Given the description of an element on the screen output the (x, y) to click on. 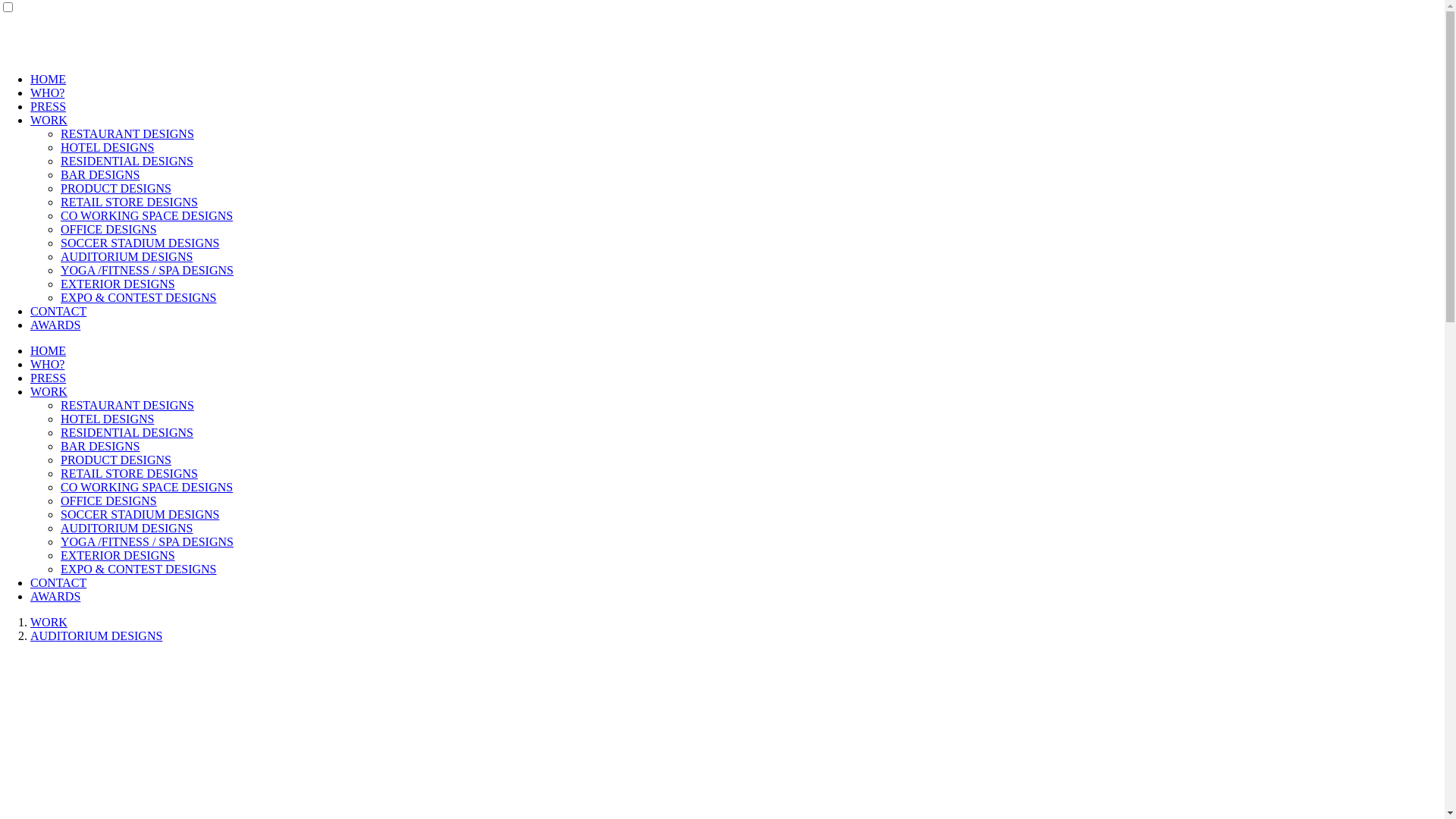
CONTACT Element type: text (58, 310)
YOGA /FITNESS / SPA DESIGNS Element type: text (146, 269)
EXPO & CONTEST DESIGNS Element type: text (138, 297)
BAR DESIGNS Element type: text (99, 445)
WHO? Element type: text (47, 363)
AUDITORIUM DESIGNS Element type: text (126, 256)
PRODUCT DESIGNS Element type: text (115, 188)
WHO? Element type: text (47, 92)
AUDITORIUM DESIGNS Element type: text (126, 527)
CONTACT Element type: text (58, 582)
CO WORKING SPACE DESIGNS Element type: text (146, 215)
HOTEL DESIGNS Element type: text (106, 147)
EXTERIOR DESIGNS Element type: text (117, 555)
AUDITORIUM DESIGNS Element type: text (96, 635)
RESIDENTIAL DESIGNS Element type: text (126, 160)
WORK Element type: text (48, 621)
BAR DESIGNS Element type: text (99, 174)
SOCCER STADIUM DESIGNS Element type: text (139, 242)
AWARDS Element type: text (55, 324)
RESTAURANT DESIGNS Element type: text (127, 133)
SOCCER STADIUM DESIGNS Element type: text (139, 514)
AWARDS Element type: text (55, 595)
PRESS Element type: text (47, 377)
OFFICE DESIGNS Element type: text (108, 500)
CO WORKING SPACE DESIGNS Element type: text (146, 486)
PRESS Element type: text (47, 106)
PRODUCT DESIGNS Element type: text (115, 459)
HOTEL DESIGNS Element type: text (106, 418)
RETAIL STORE DESIGNS Element type: text (128, 473)
WORK Element type: text (48, 391)
OFFICE DESIGNS Element type: text (108, 228)
HOME Element type: text (47, 78)
RESIDENTIAL DESIGNS Element type: text (126, 432)
RESTAURANT DESIGNS Element type: text (127, 404)
WORK Element type: text (48, 119)
HOME Element type: text (47, 350)
EXTERIOR DESIGNS Element type: text (117, 283)
YOGA /FITNESS / SPA DESIGNS Element type: text (146, 541)
RETAIL STORE DESIGNS Element type: text (128, 201)
EXPO & CONTEST DESIGNS Element type: text (138, 568)
